Given the description of an element on the screen output the (x, y) to click on. 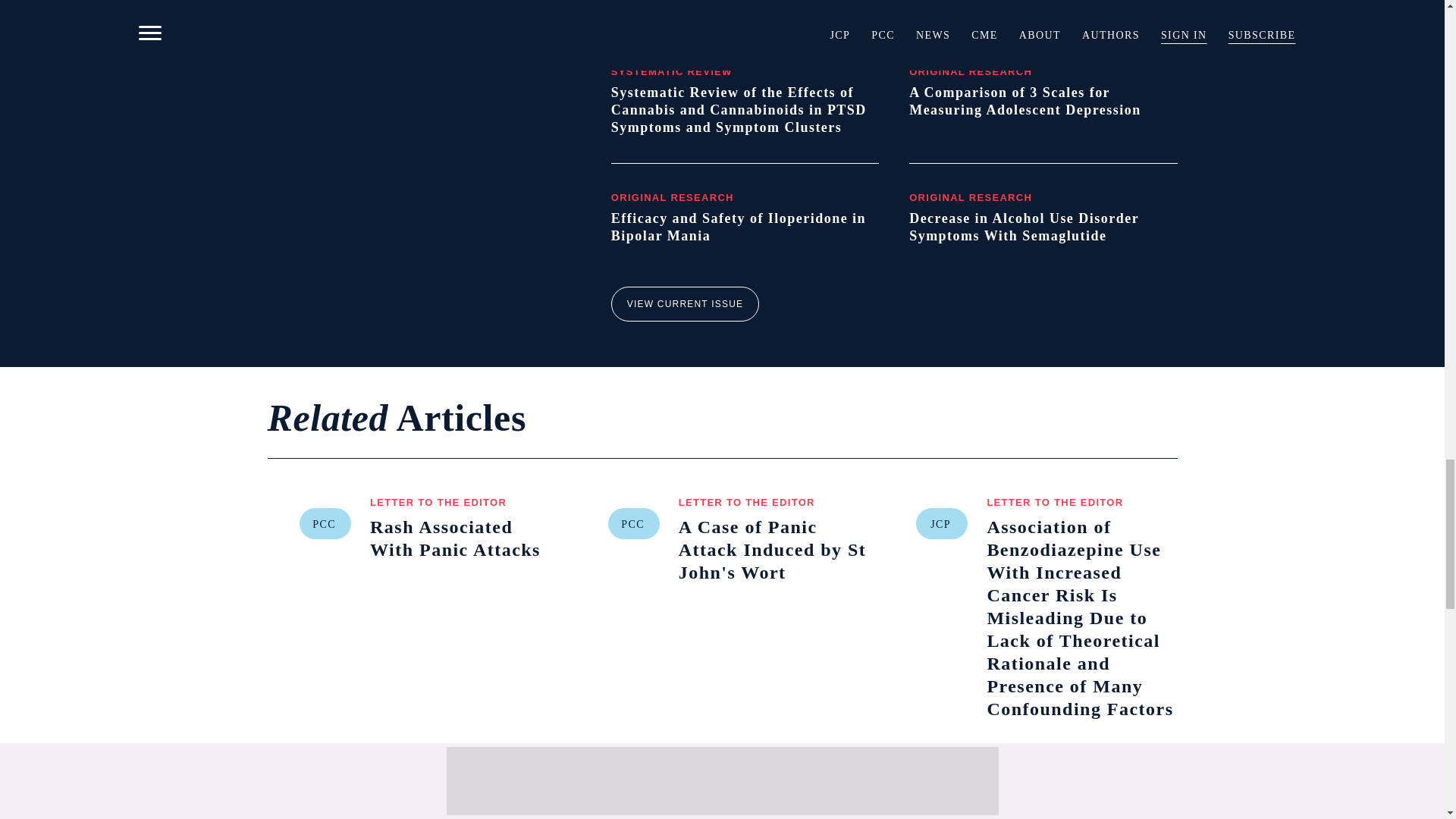
PCC (633, 522)
PCC (324, 522)
JCP (941, 522)
